Given the description of an element on the screen output the (x, y) to click on. 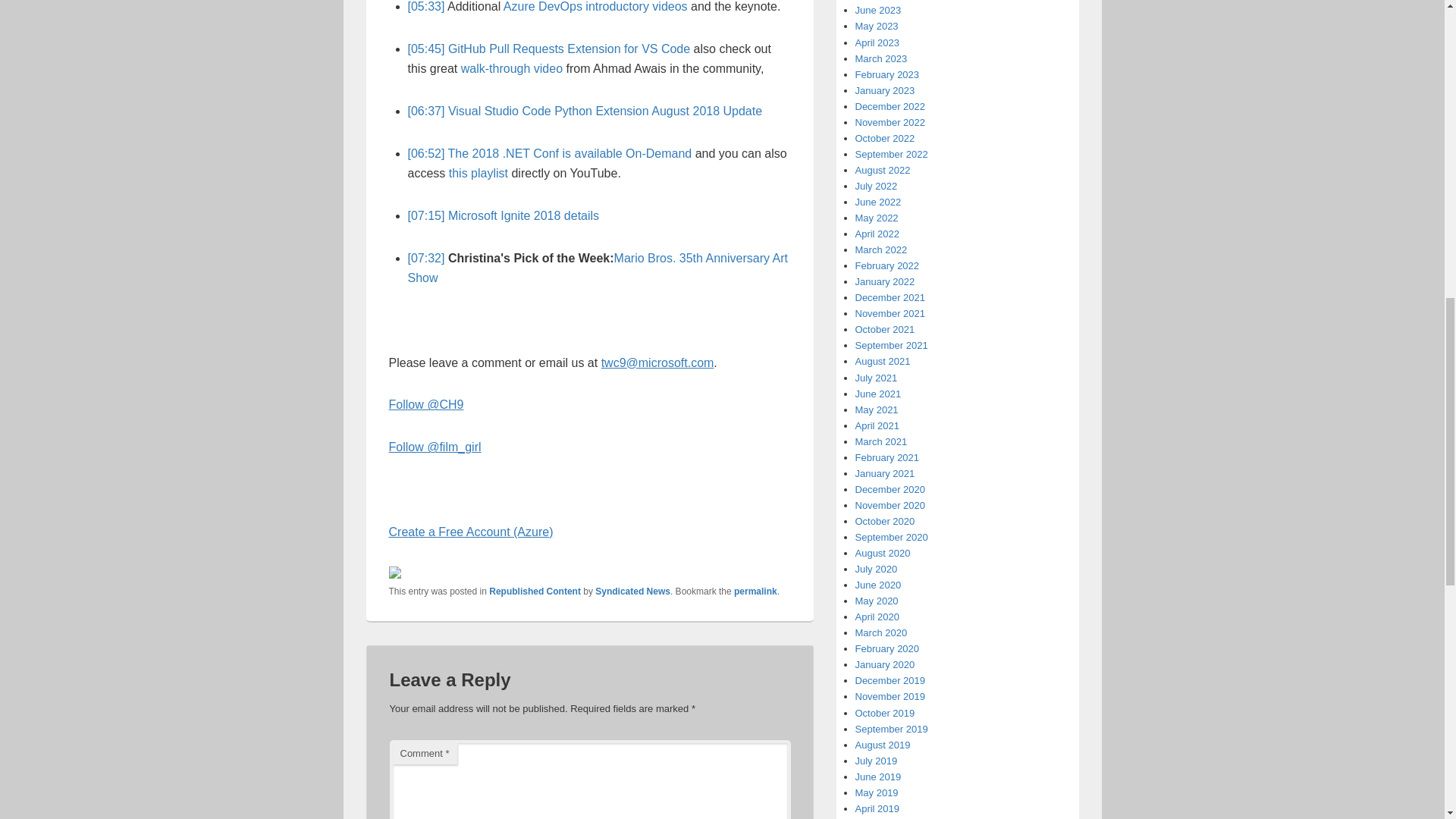
GitHub Pull Requests Extension for VS Code (569, 48)
Azure DevOps introductory videos (595, 6)
permalink (755, 591)
this playlist (478, 173)
Syndicated News (632, 591)
Visual Studio Code Python Extension August 2018 Update (604, 110)
The 2018 .NET Conf is available On-Demand (570, 153)
Mario Bros. 35th Anniversary Art Show (598, 267)
Republished Content (534, 591)
Microsoft Ignite 2018 details (523, 215)
